Given the description of an element on the screen output the (x, y) to click on. 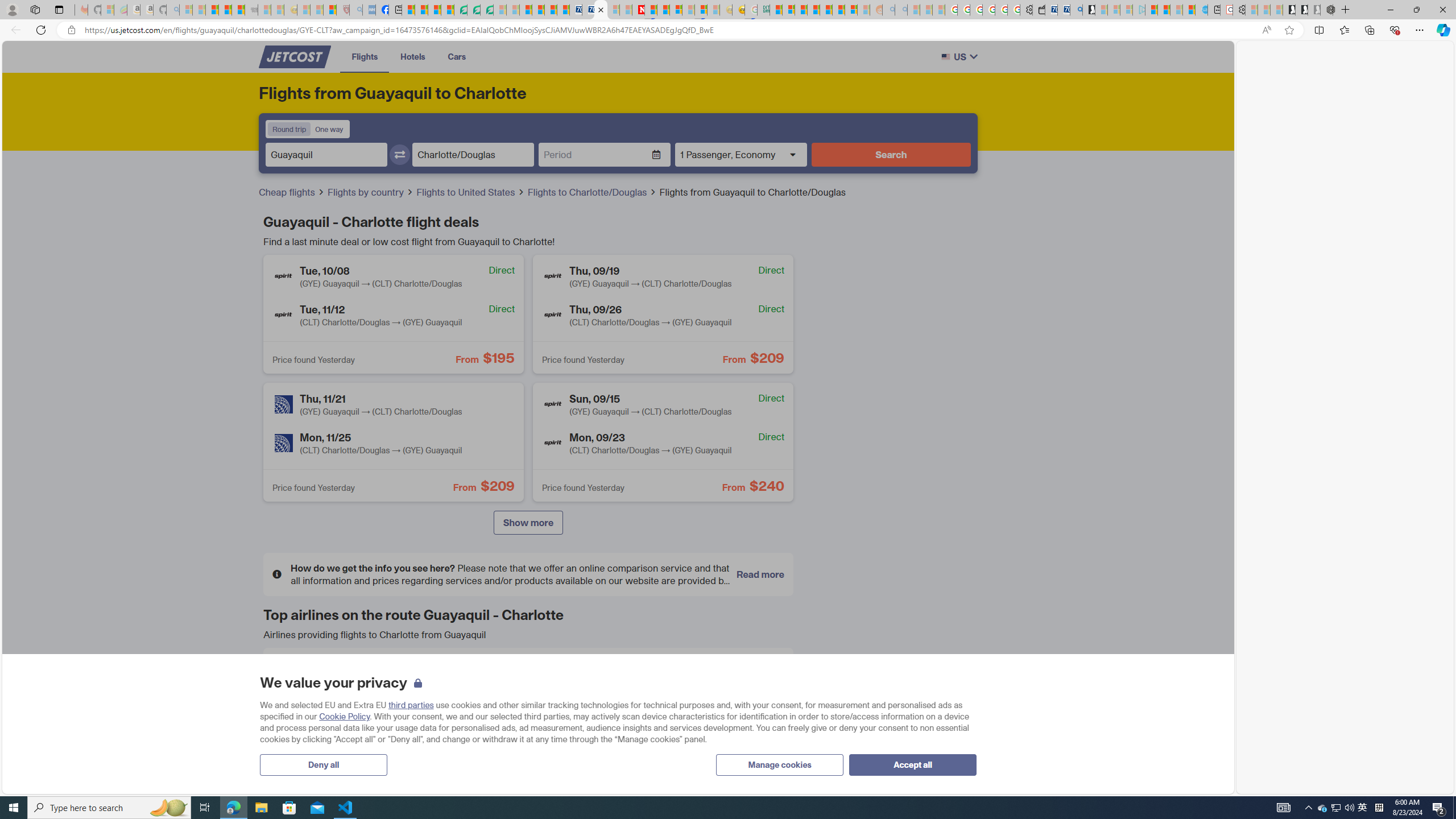
Accept all (912, 764)
Cheap flights (291, 191)
Combat Siege (251, 9)
Class: no-underline cursor-pointer (295, 56)
Favorites (1344, 29)
Cookie Policy (343, 716)
World - MSN (434, 9)
Nordace - Nordace Siena Is Not An Ordinary Backpack (1327, 9)
Cheap flights (288, 191)
Address and search bar (669, 29)
Browser essentials (1394, 29)
